Given the description of an element on the screen output the (x, y) to click on. 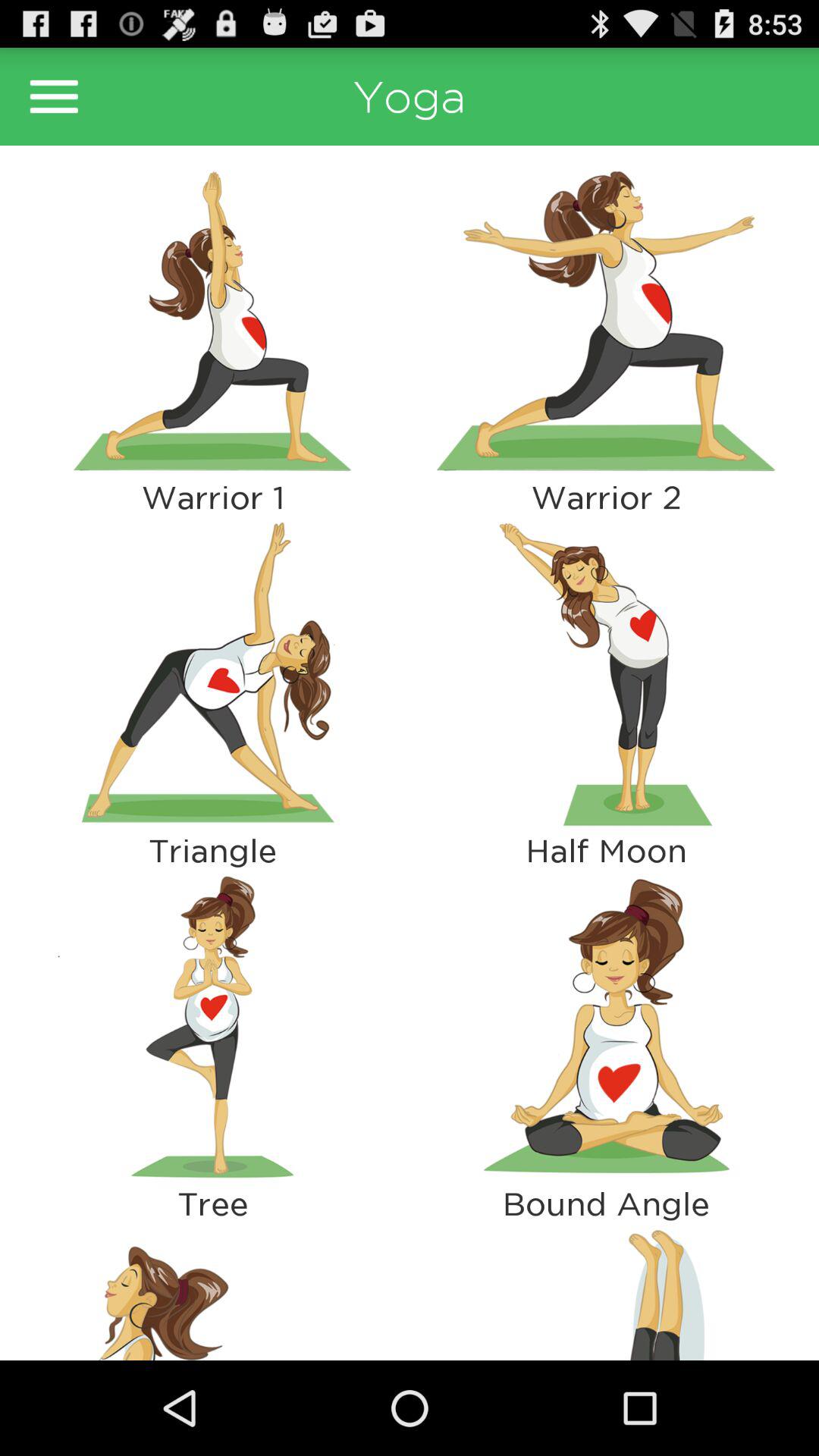
toggle features (53, 96)
